Given the description of an element on the screen output the (x, y) to click on. 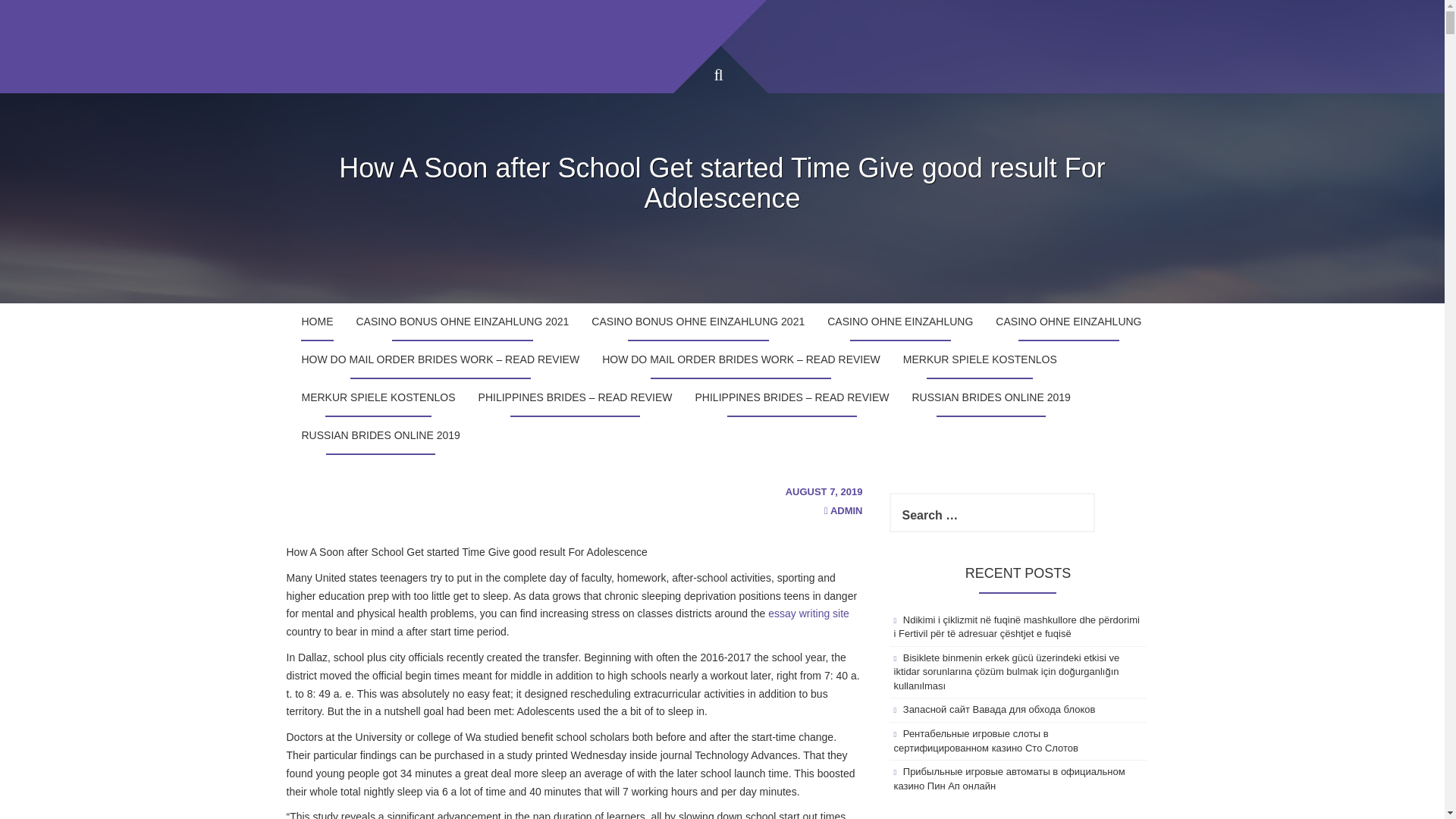
HOME (316, 322)
RUSSIAN BRIDES ONLINE 2019 (379, 435)
CASINO OHNE EINZAHLUNG (899, 322)
ADMIN (846, 510)
MERKUR SPIELE KOSTENLOS (979, 360)
CASINO BONUS OHNE EINZAHLUNG 2021 (461, 322)
essay writing site (808, 613)
AUGUST 7, 2019 (824, 491)
RUSSIAN BRIDES ONLINE 2019 (991, 397)
MERKUR SPIELE KOSTENLOS (377, 397)
CASINO BONUS OHNE EINZAHLUNG 2021 (697, 322)
CASINO OHNE EINZAHLUNG (1068, 322)
